Given the description of an element on the screen output the (x, y) to click on. 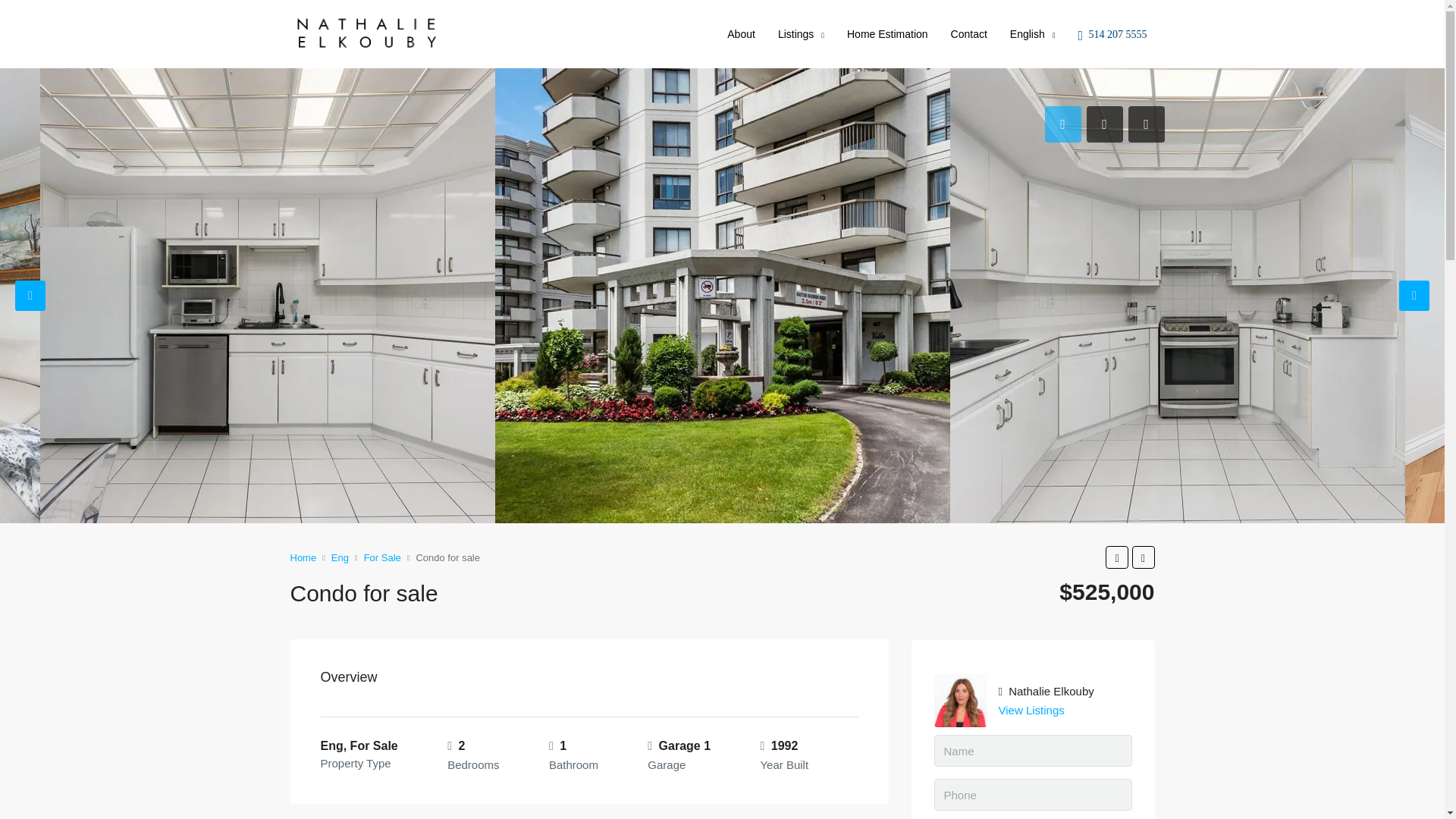
Previous (29, 295)
Home Estimation (887, 33)
English (1032, 34)
Listings (801, 34)
514 207 5555 (1115, 34)
